Given the description of an element on the screen output the (x, y) to click on. 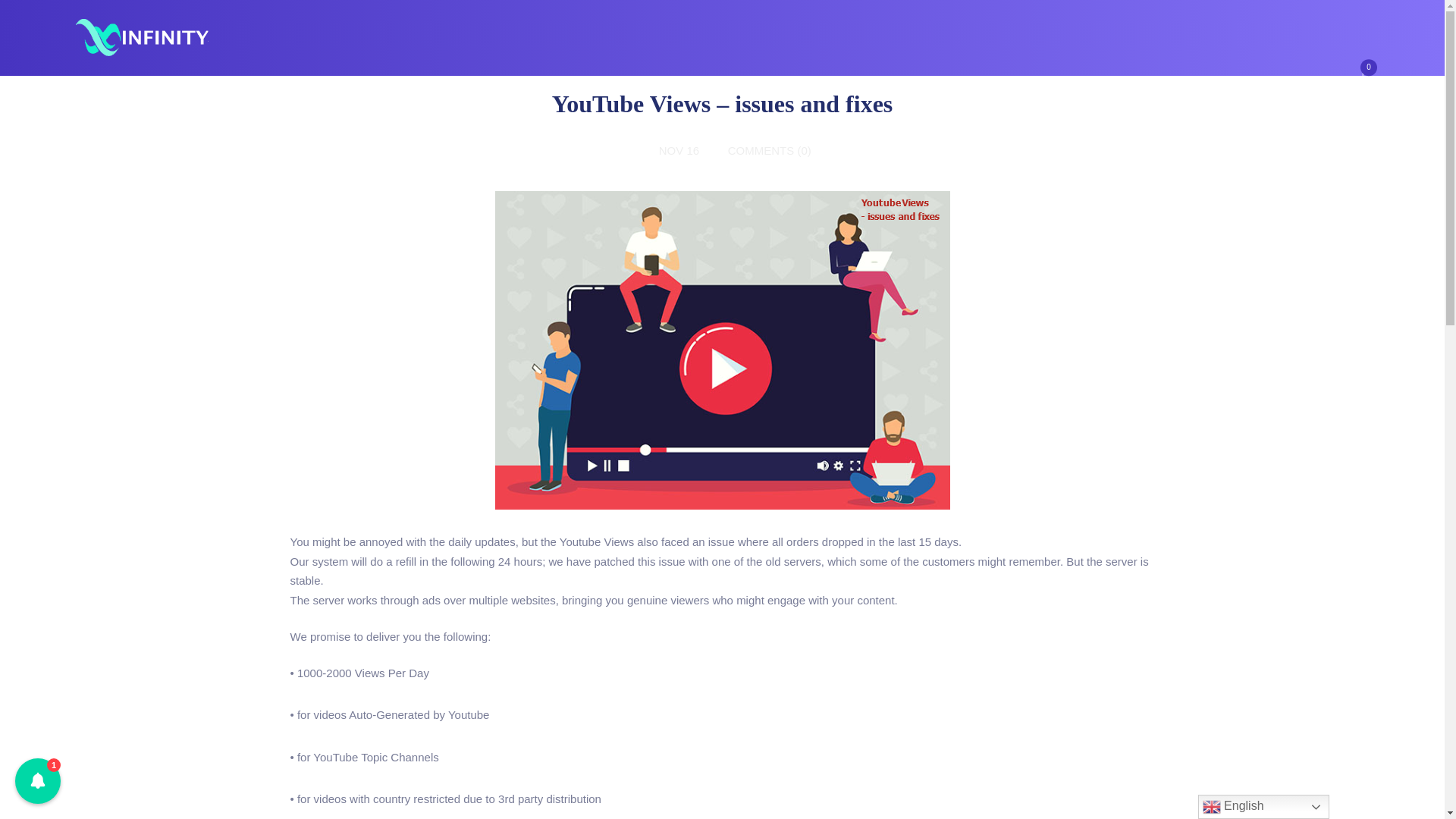
Spotify (754, 83)
YouTube (325, 83)
Instagram (232, 83)
Packages (493, 83)
Facebook (589, 83)
